Given the description of an element on the screen output the (x, y) to click on. 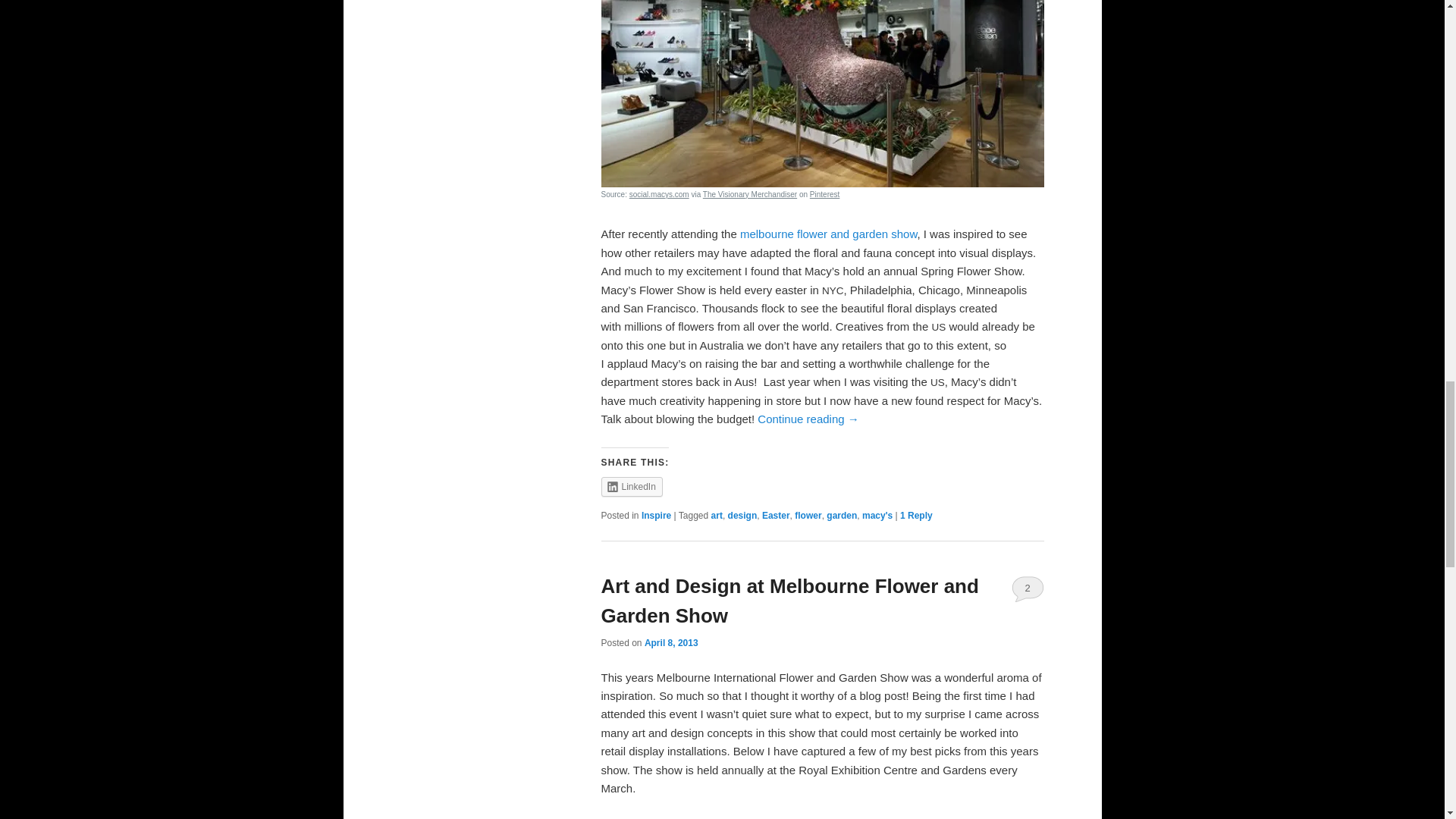
Pinterest (824, 194)
social.macys.com (658, 194)
Click to share on LinkedIn (630, 486)
8:25 am (671, 643)
The Visionary Merchandiser (749, 194)
melbourne flower and garden show (828, 233)
